Given the description of an element on the screen output the (x, y) to click on. 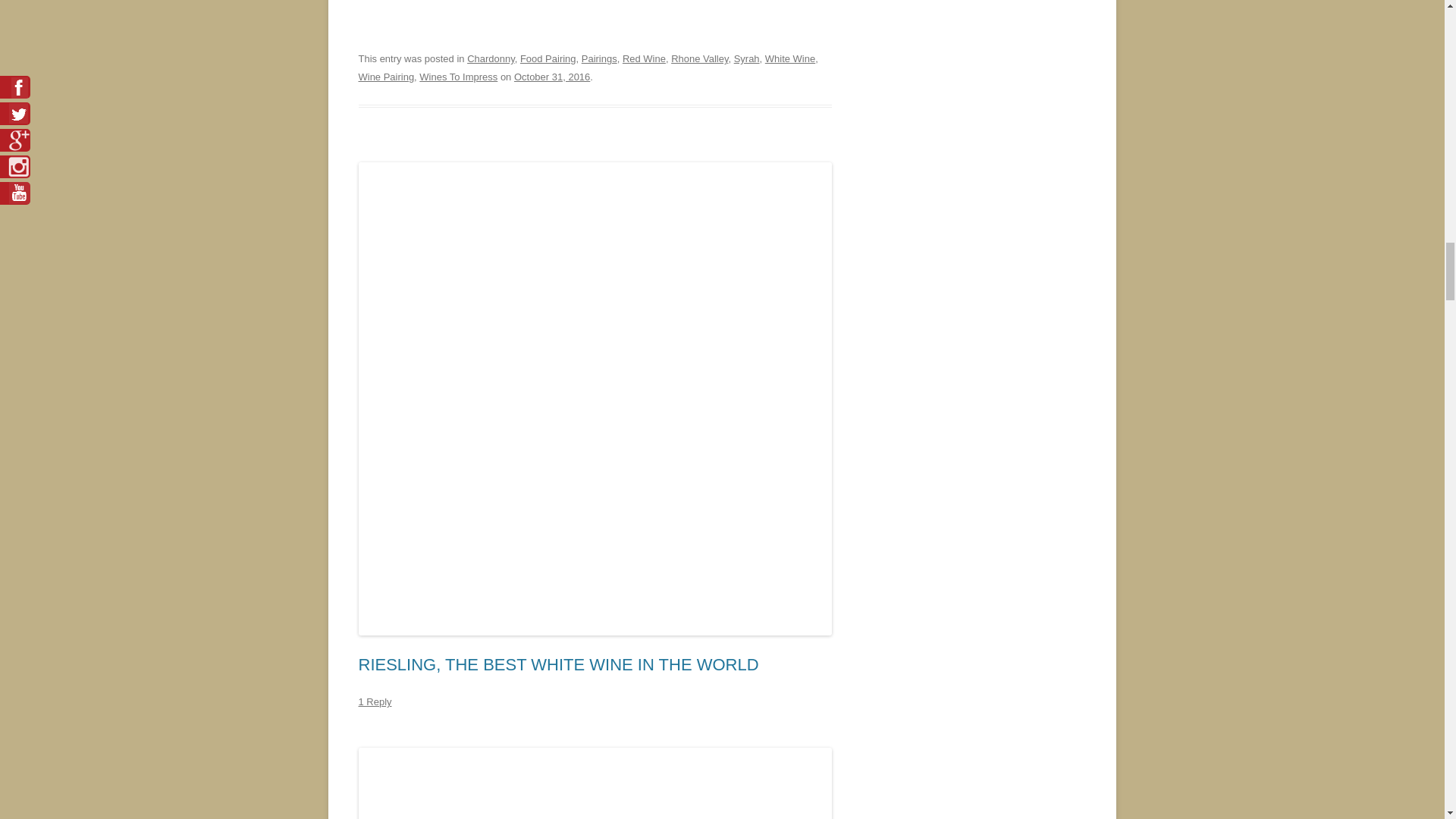
11:53 am (551, 76)
